Given the description of an element on the screen output the (x, y) to click on. 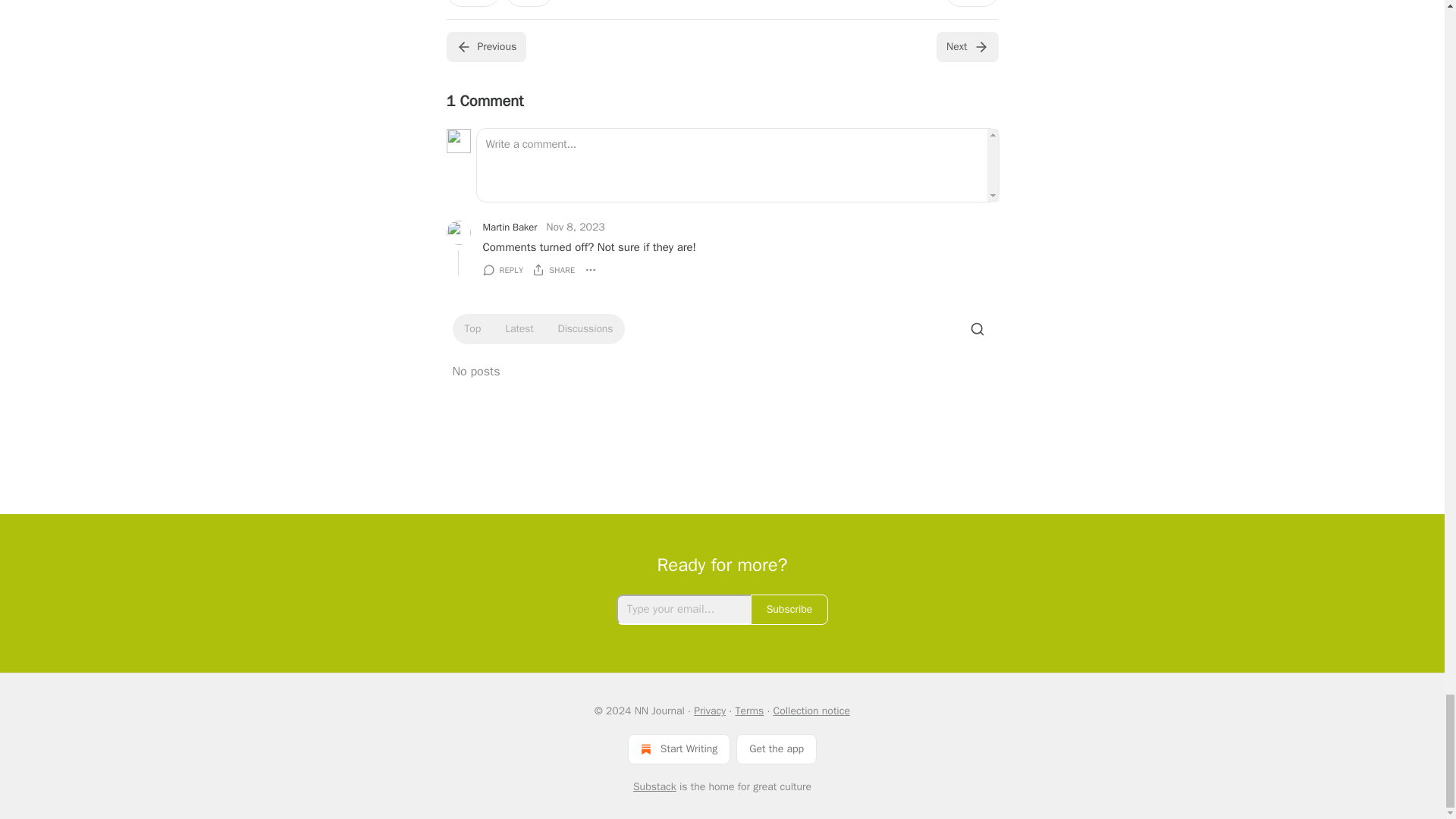
Next (966, 46)
10 (472, 3)
Previous (485, 46)
Share (970, 3)
1 (529, 3)
Martin Baker (509, 227)
Nov 8, 2023 (575, 227)
REPLY (501, 269)
